Given the description of an element on the screen output the (x, y) to click on. 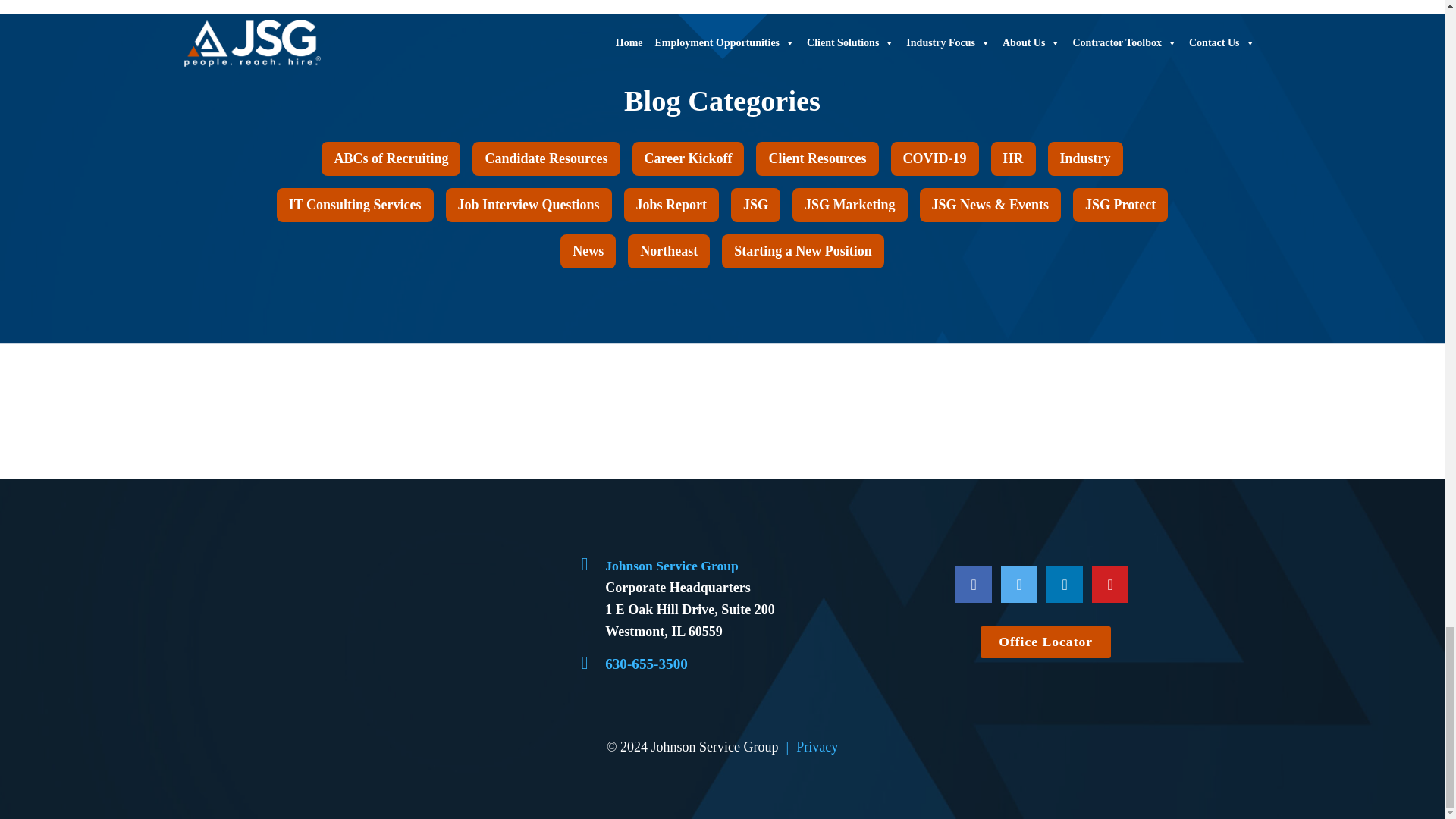
Subscribe to Johnson Service Group on YouTube (1110, 584)
Connect with Johnson Service Group on LinkedIn (1064, 584)
Follow Johnson Service Group on Facebook (973, 584)
Follow Johnson Service Group on Twitter (1018, 584)
